Given the description of an element on the screen output the (x, y) to click on. 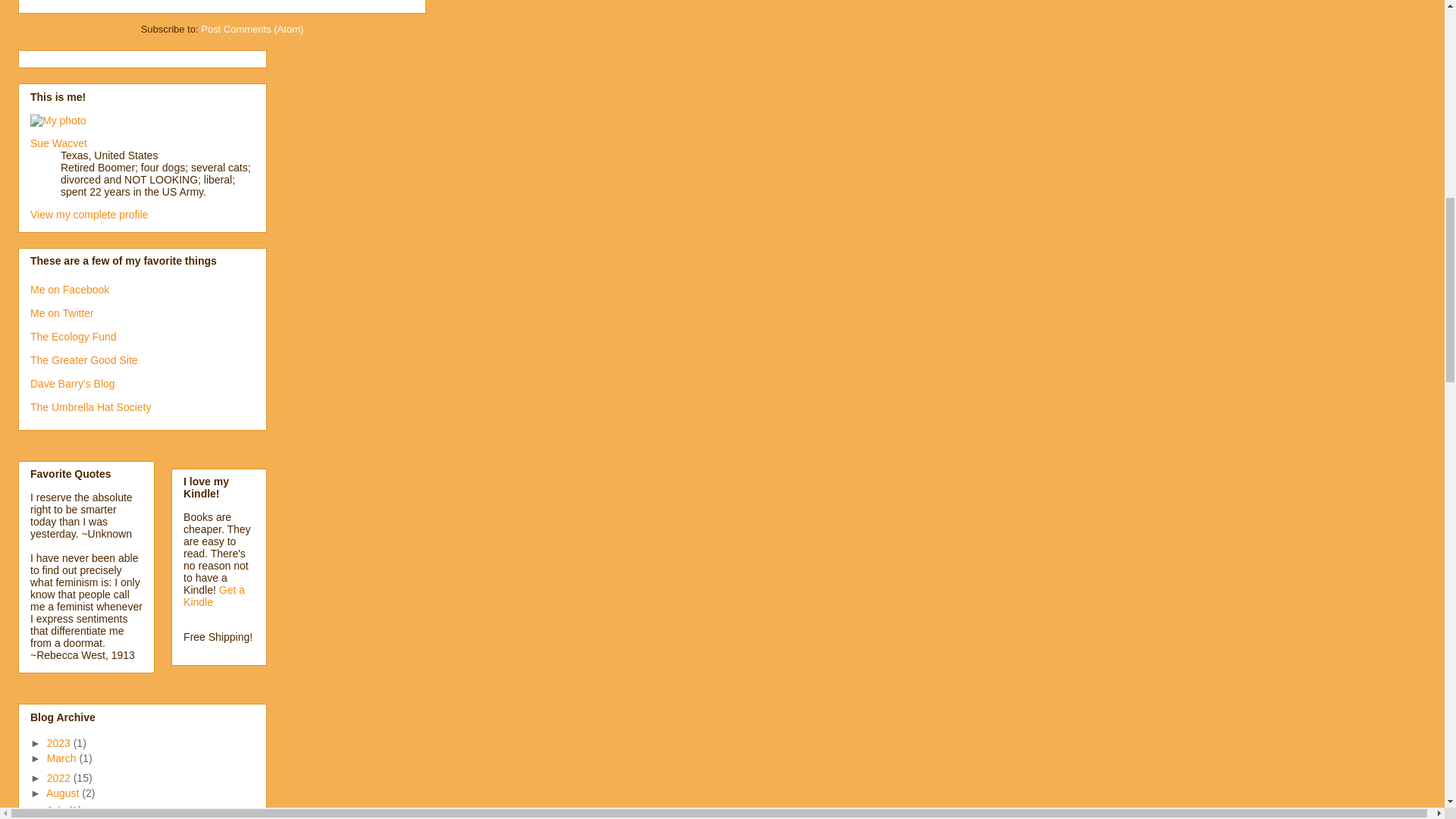
Older Post (122, 0)
The Ecology Fund (73, 336)
The Greater Good Site (84, 359)
Me on Twitter (62, 313)
Get a Kindle (213, 595)
Sue Wacvet (58, 143)
March (63, 758)
The Umbrella Hat Society (90, 407)
Dave Barry's Blog (72, 383)
August (63, 793)
2022 (60, 777)
2023 (60, 743)
Older Post (122, 0)
Newer Post (60, 0)
